Given the description of an element on the screen output the (x, y) to click on. 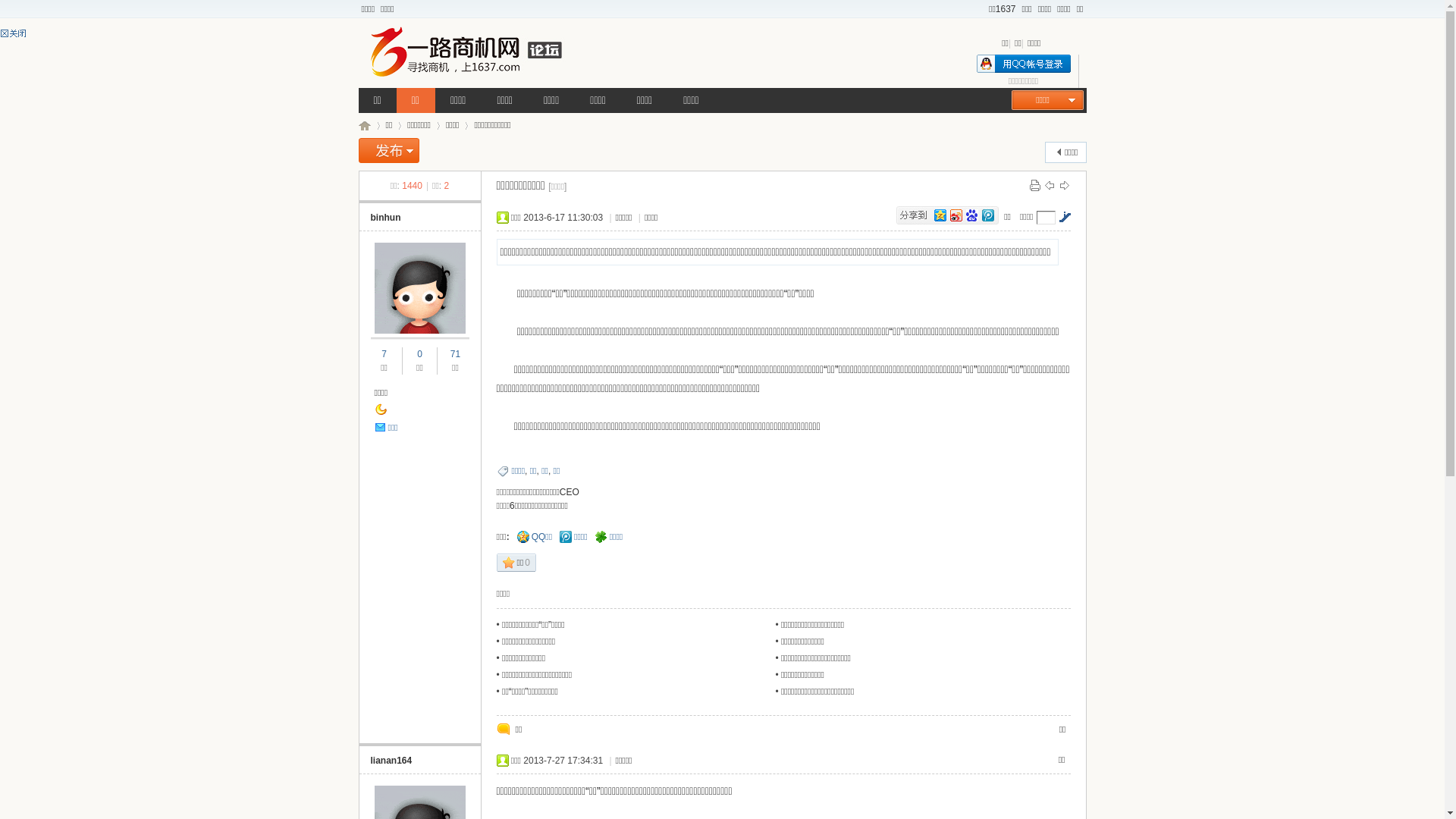
binhun Element type: text (385, 217)
0 Element type: text (419, 353)
71 Element type: text (455, 353)
lianan164 Element type: text (390, 760)
7 Element type: text (383, 353)
